Given the description of an element on the screen output the (x, y) to click on. 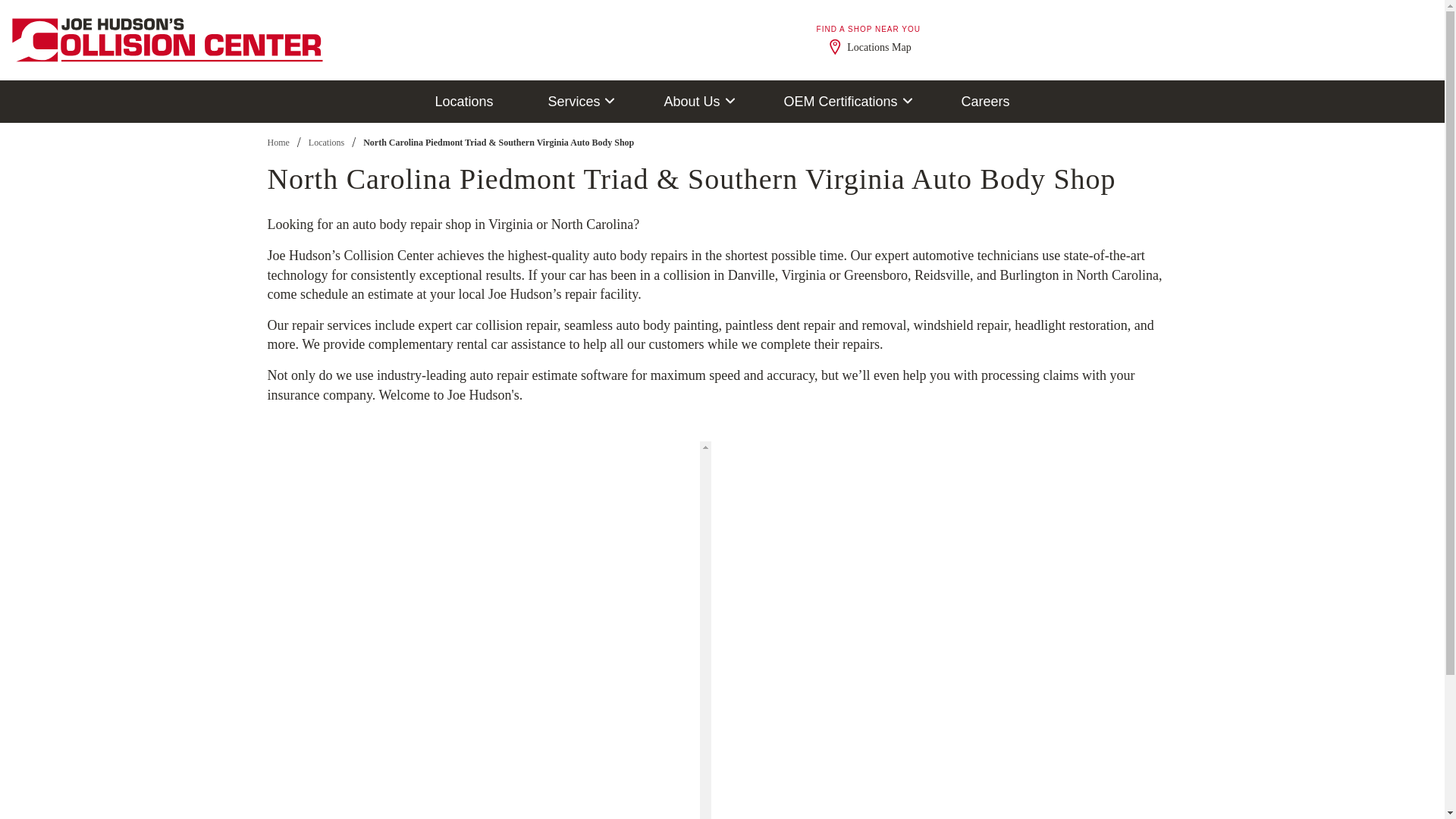
About Us (695, 101)
About Us (695, 101)
Locations Map (868, 46)
Services (578, 101)
Locations (463, 101)
Services (578, 101)
Locations (463, 101)
OEM Certifications (844, 101)
